Given the description of an element on the screen output the (x, y) to click on. 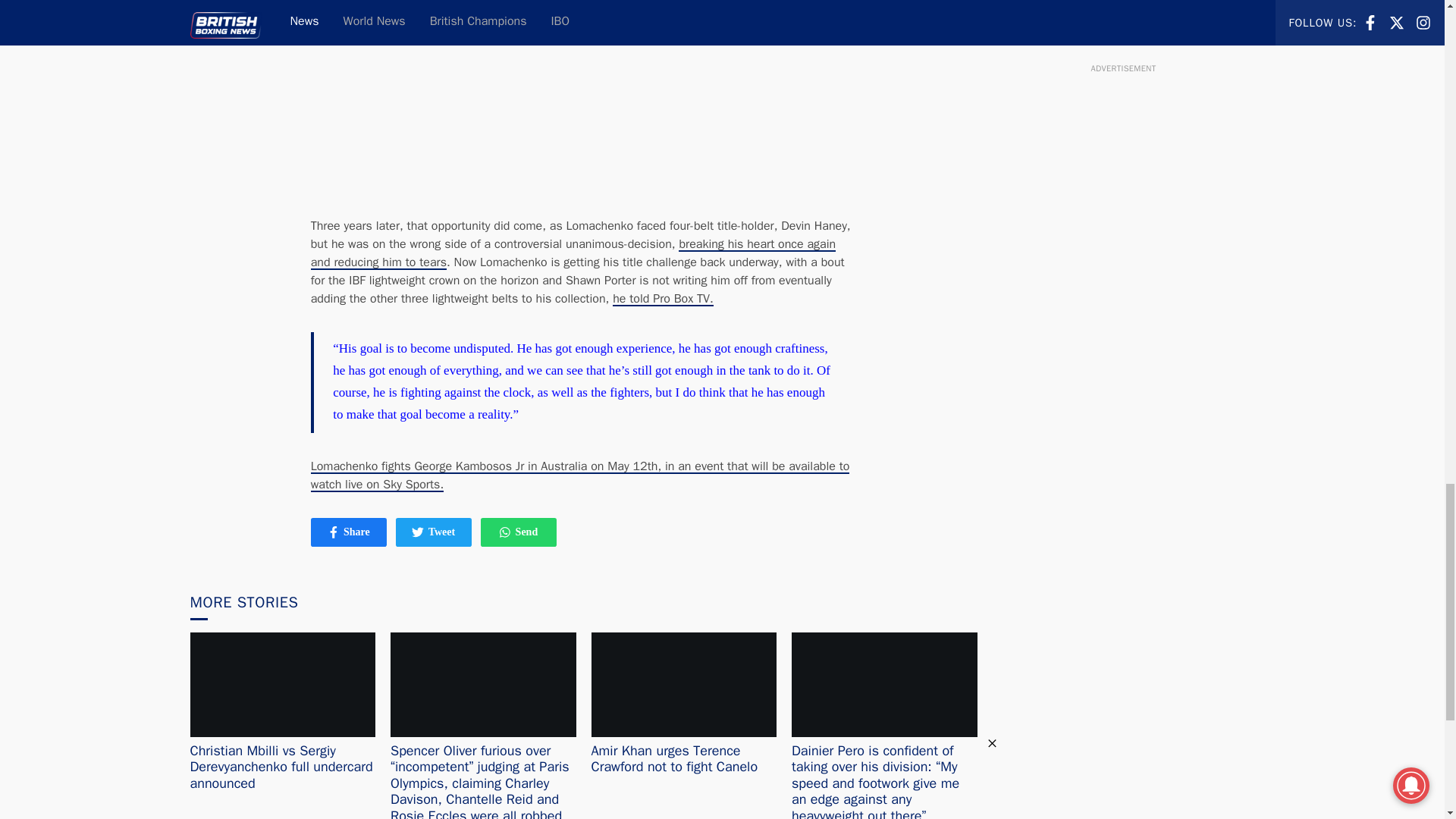
he told Pro Box TV. (662, 298)
Twitter (433, 531)
Amir Khan urges Terence Crawford not to fight Canelo (417, 532)
Facebook (674, 758)
breaking his heart once again and reducing him to tears (518, 531)
